Given the description of an element on the screen output the (x, y) to click on. 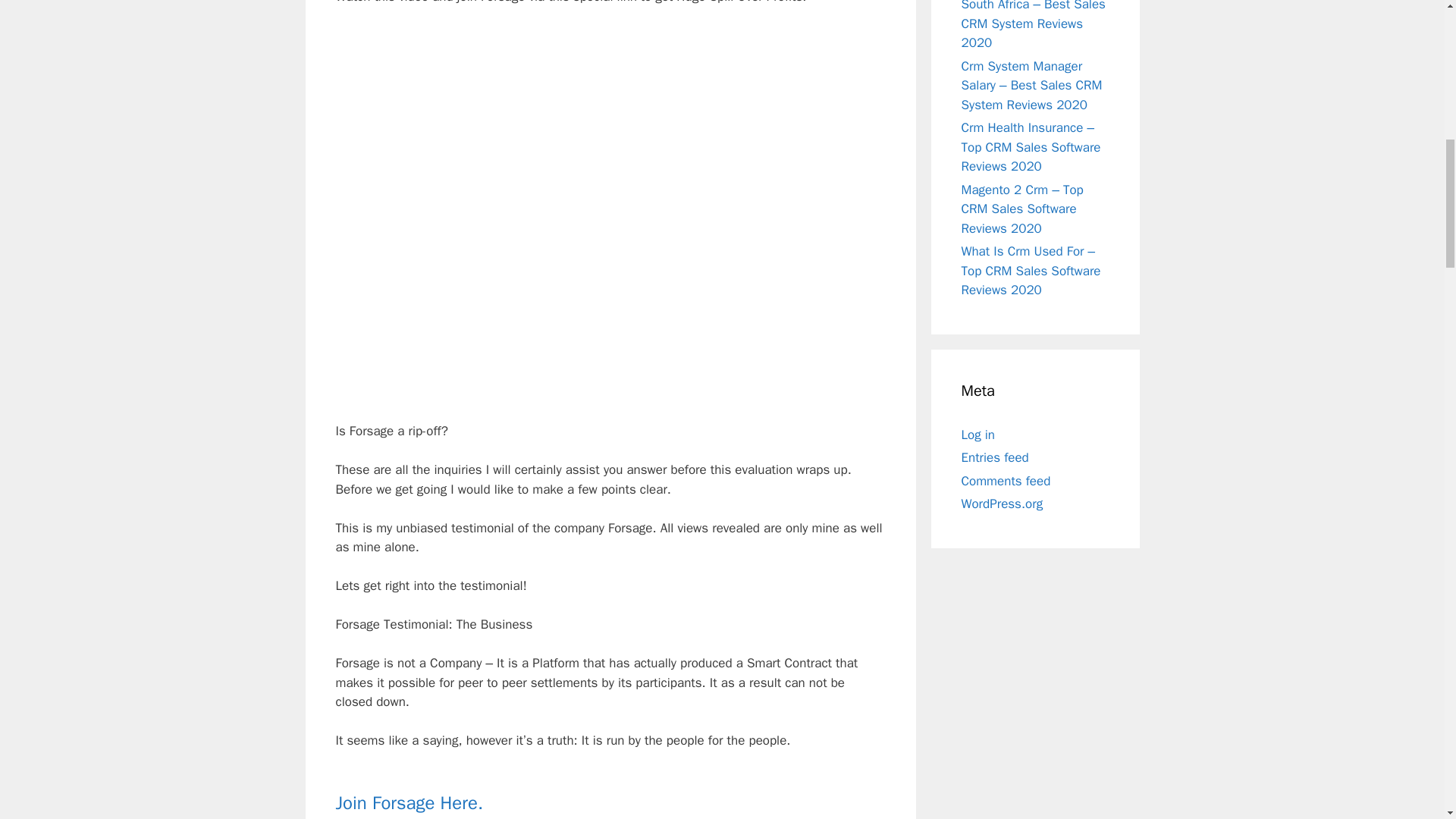
WordPress.org (1001, 503)
Log in (977, 434)
Join Forsage Here. (408, 802)
Entries feed (994, 457)
Comments feed (1005, 480)
